Given the description of an element on the screen output the (x, y) to click on. 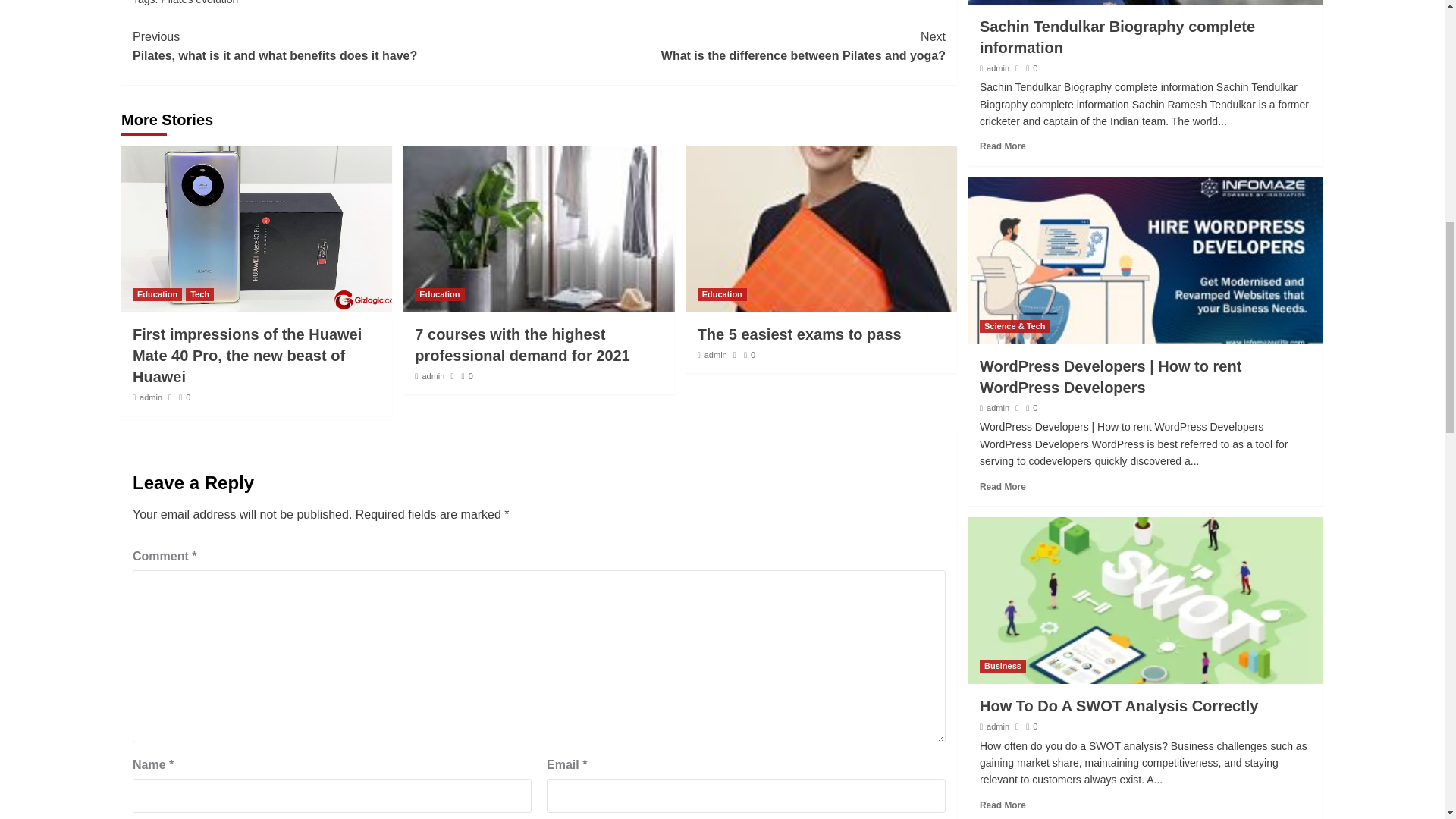
Pilates evolution (199, 2)
0 (741, 46)
Tech (184, 397)
Education (200, 294)
7 courses with the highest professional demand for 2021 (439, 294)
admin (521, 344)
Education (335, 46)
admin (150, 397)
